Given the description of an element on the screen output the (x, y) to click on. 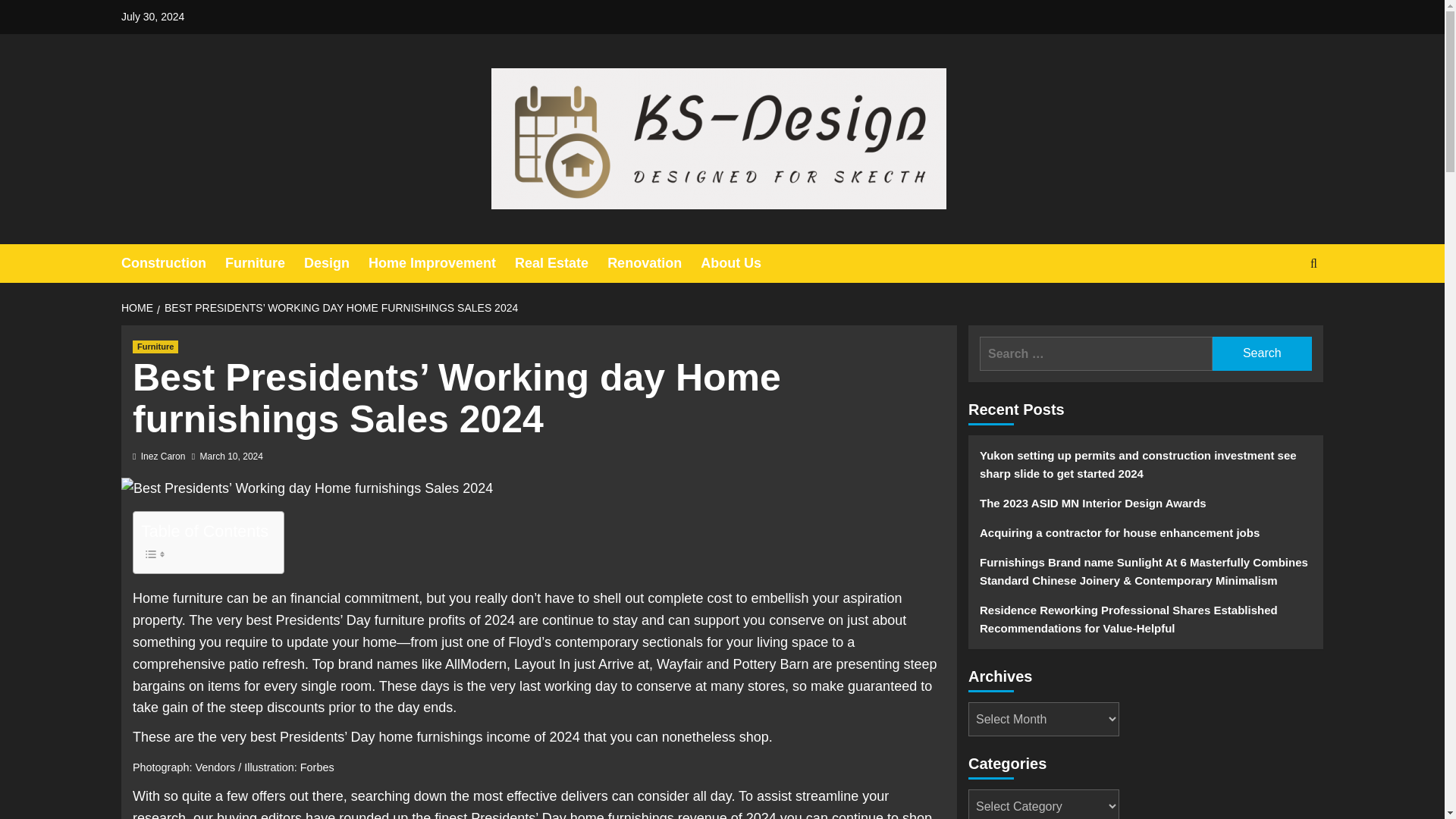
Search (1261, 353)
AllModern (475, 663)
Search (1261, 353)
March 10, 2024 (231, 456)
Furniture (264, 263)
Inez Caron (163, 456)
Design (336, 263)
Layout In just Arrive at (581, 663)
Home Improvement (441, 263)
About Us (740, 263)
Renovation (653, 263)
Pottery Barn (770, 663)
Wayfair (678, 663)
Construction (172, 263)
Real Estate (561, 263)
